Given the description of an element on the screen output the (x, y) to click on. 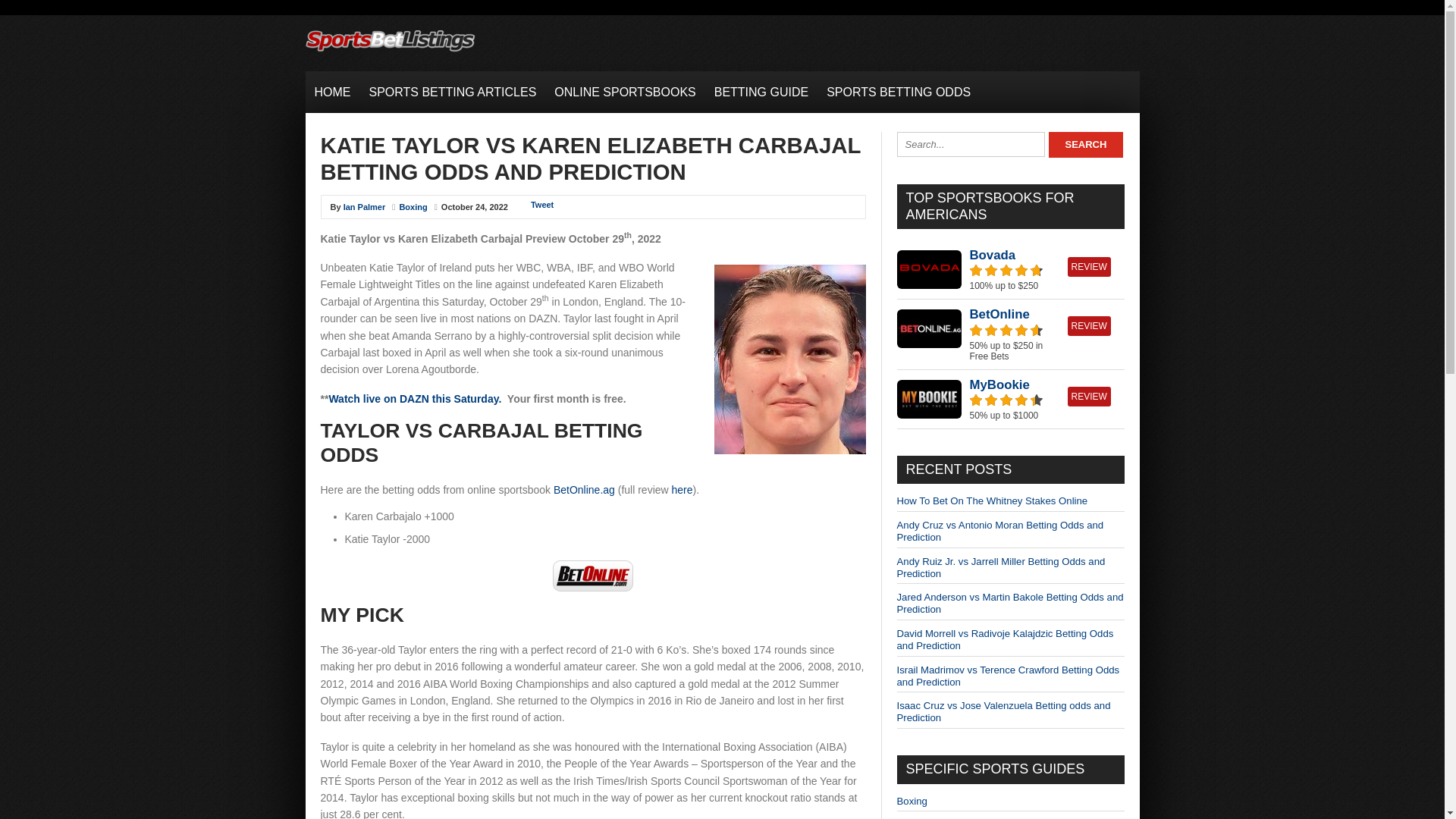
BetOnline.ag (583, 490)
Search (1085, 144)
here (682, 490)
REVIEW (1088, 396)
Search (1085, 144)
Search (1085, 144)
Watch live on DAZN this Saturday. (414, 398)
REVIEW (1088, 266)
Sports Bet Listings (389, 51)
REVIEW (1088, 325)
